Given the description of an element on the screen output the (x, y) to click on. 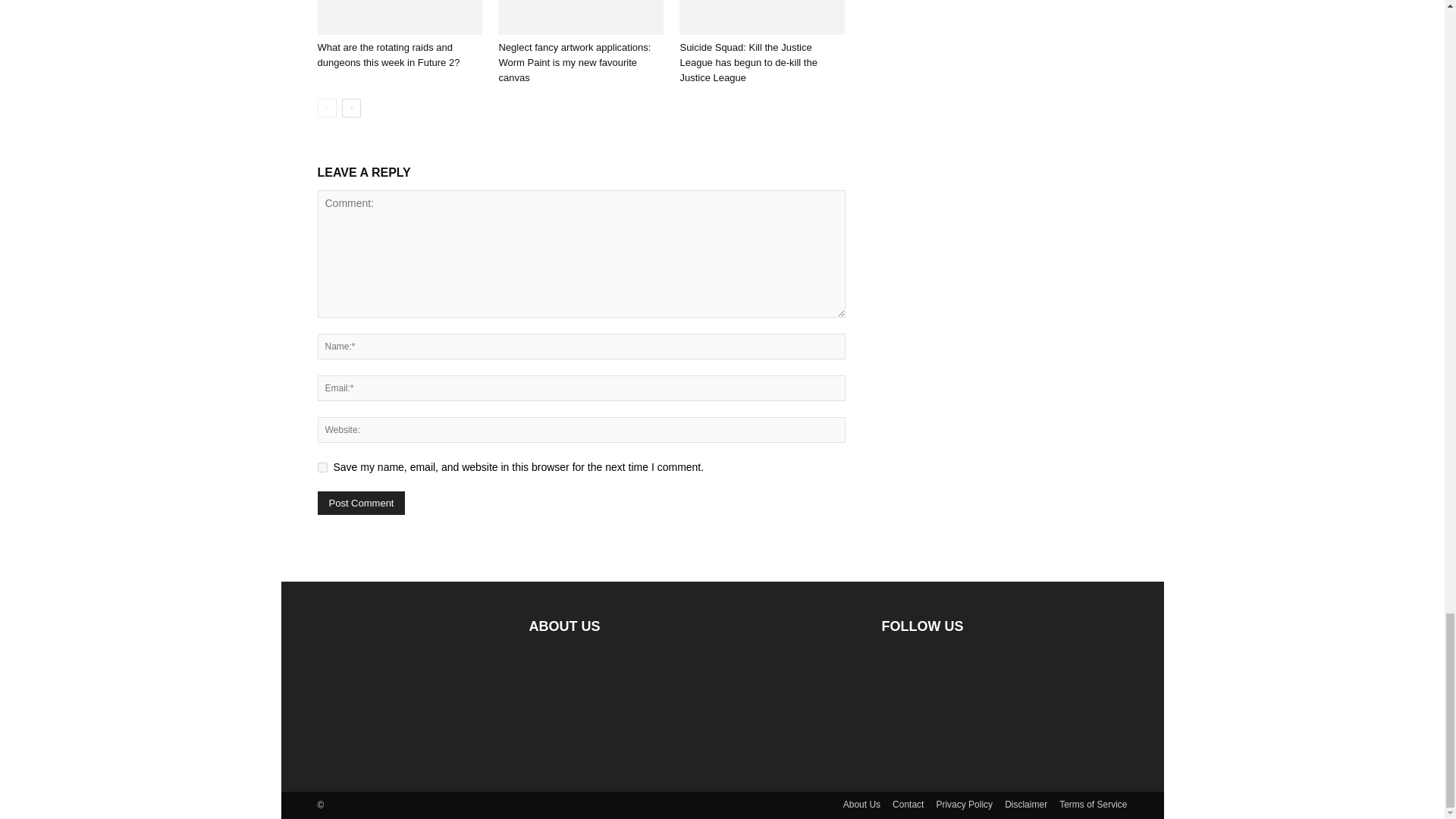
Post Comment (360, 503)
yes (321, 467)
